Given the description of an element on the screen output the (x, y) to click on. 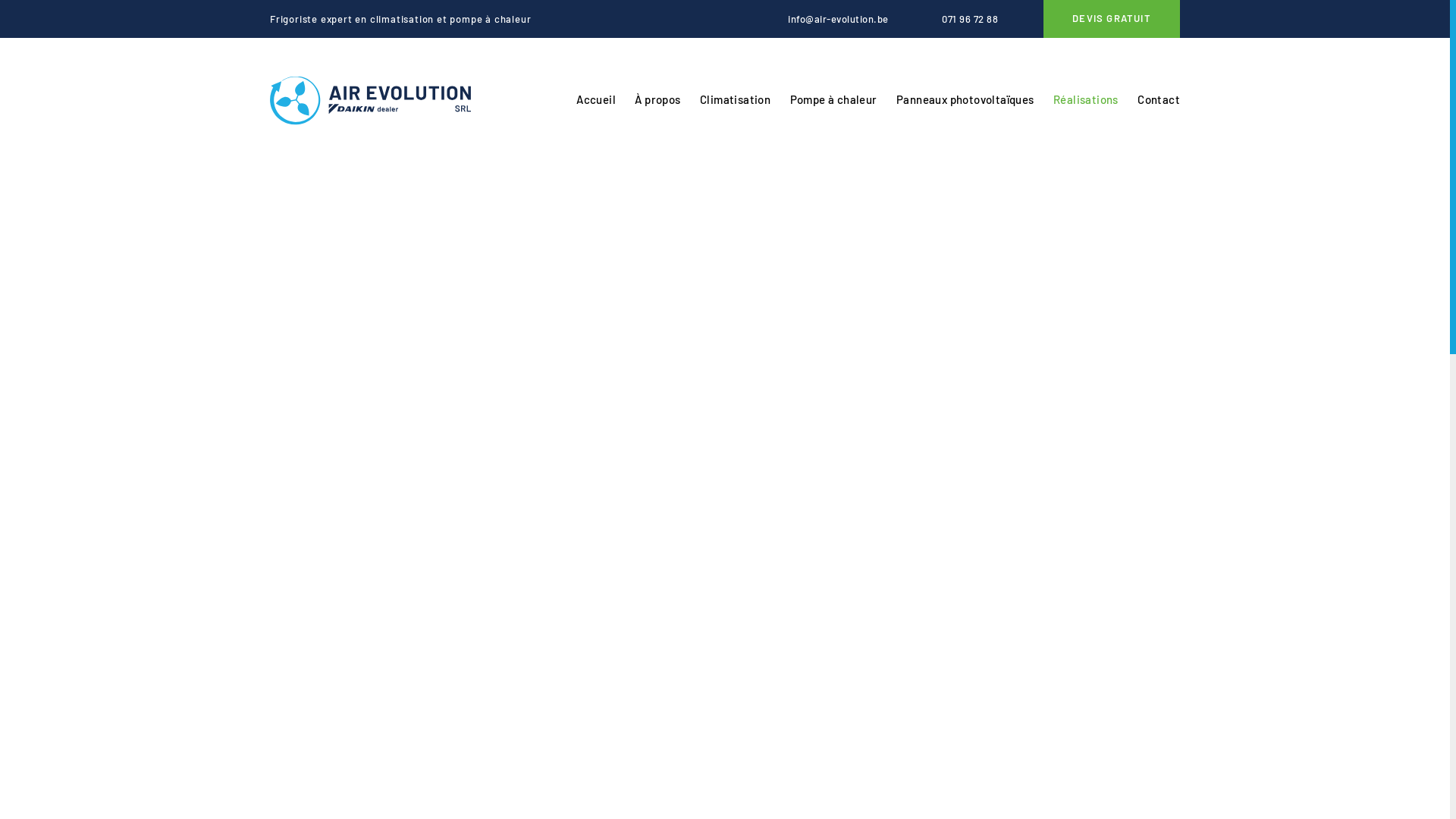
071 96 72 88 Element type: text (958, 18)
DEVIS GRATUIT Element type: text (1111, 18)
Air Evolution Element type: hover (369, 100)
Accueil Element type: text (595, 100)
info@air-evolution.be Element type: text (826, 18)
Climatisation Element type: text (734, 100)
Contact Element type: text (1158, 100)
